Given the description of an element on the screen output the (x, y) to click on. 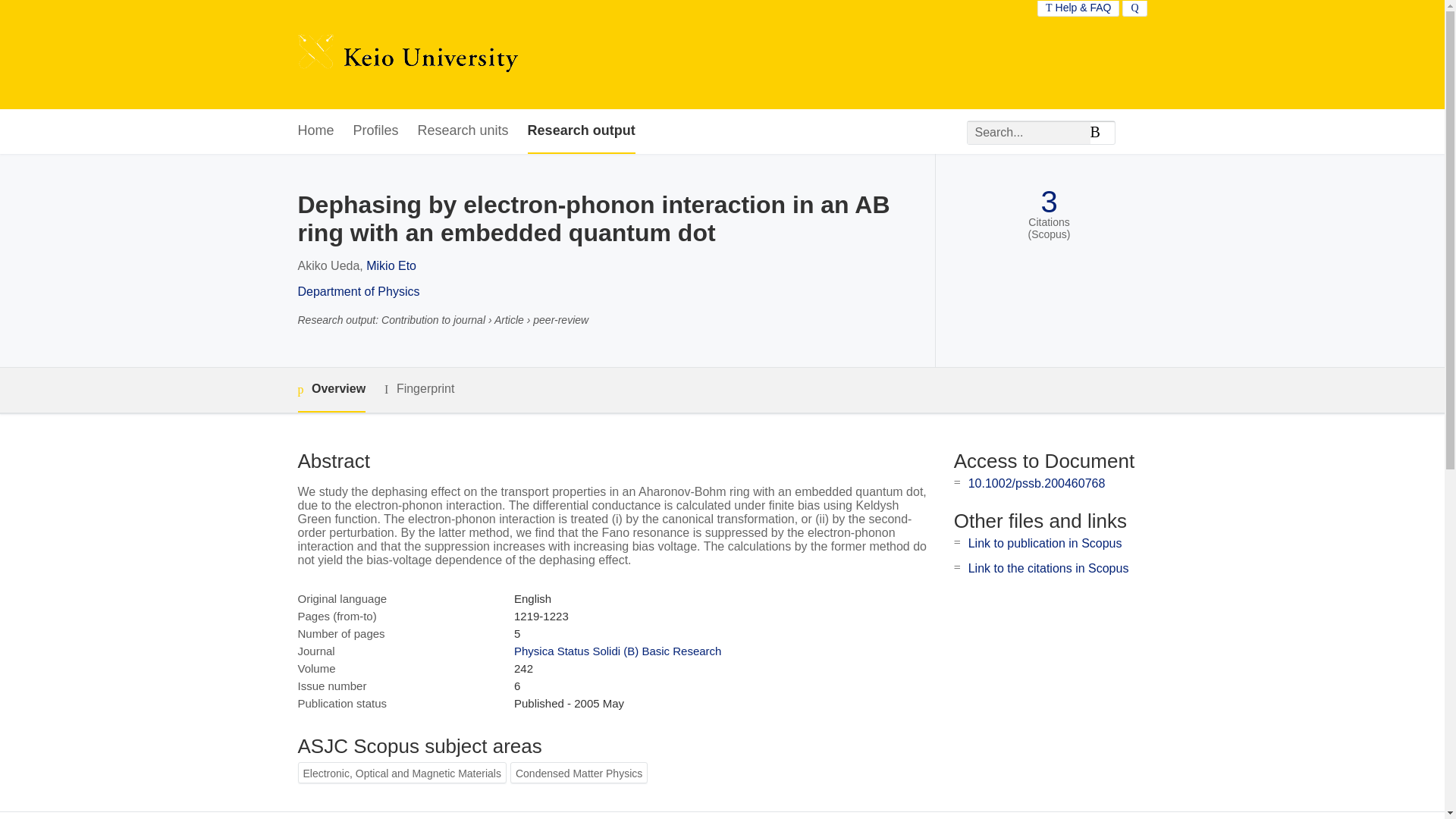
Keio University Home (407, 54)
Fingerprint (419, 389)
Mikio Eto (391, 265)
Profiles (375, 130)
Research units (462, 130)
Link to the citations in Scopus (1048, 567)
Research output (580, 130)
Department of Physics (358, 291)
Overview (331, 389)
